Given the description of an element on the screen output the (x, y) to click on. 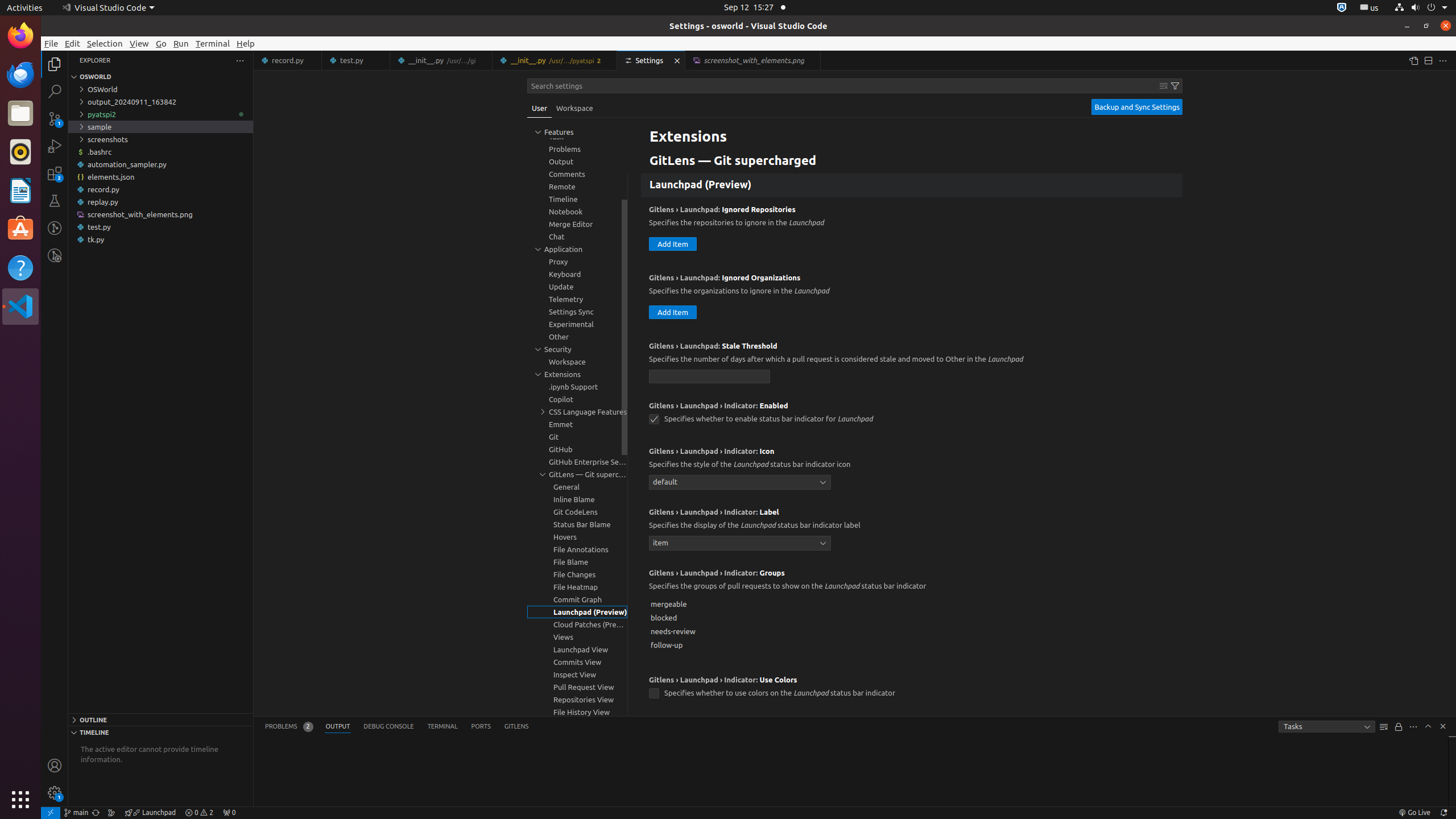
File Changes, group Element type: tree-item (577, 574)
pyatspi2 Element type: tree-item (160, 114)
OSWorld (Git) - Synchronize Changes Element type: push-button (95, 812)
Gitlens › Launchpad Stale Threshold. Specifies the number of days after which a pull request is considered stale and moved to Other in the Launchpad  Element type: tree-item (911, 363)
sample Element type: tree-item (160, 126)
